Given the description of an element on the screen output the (x, y) to click on. 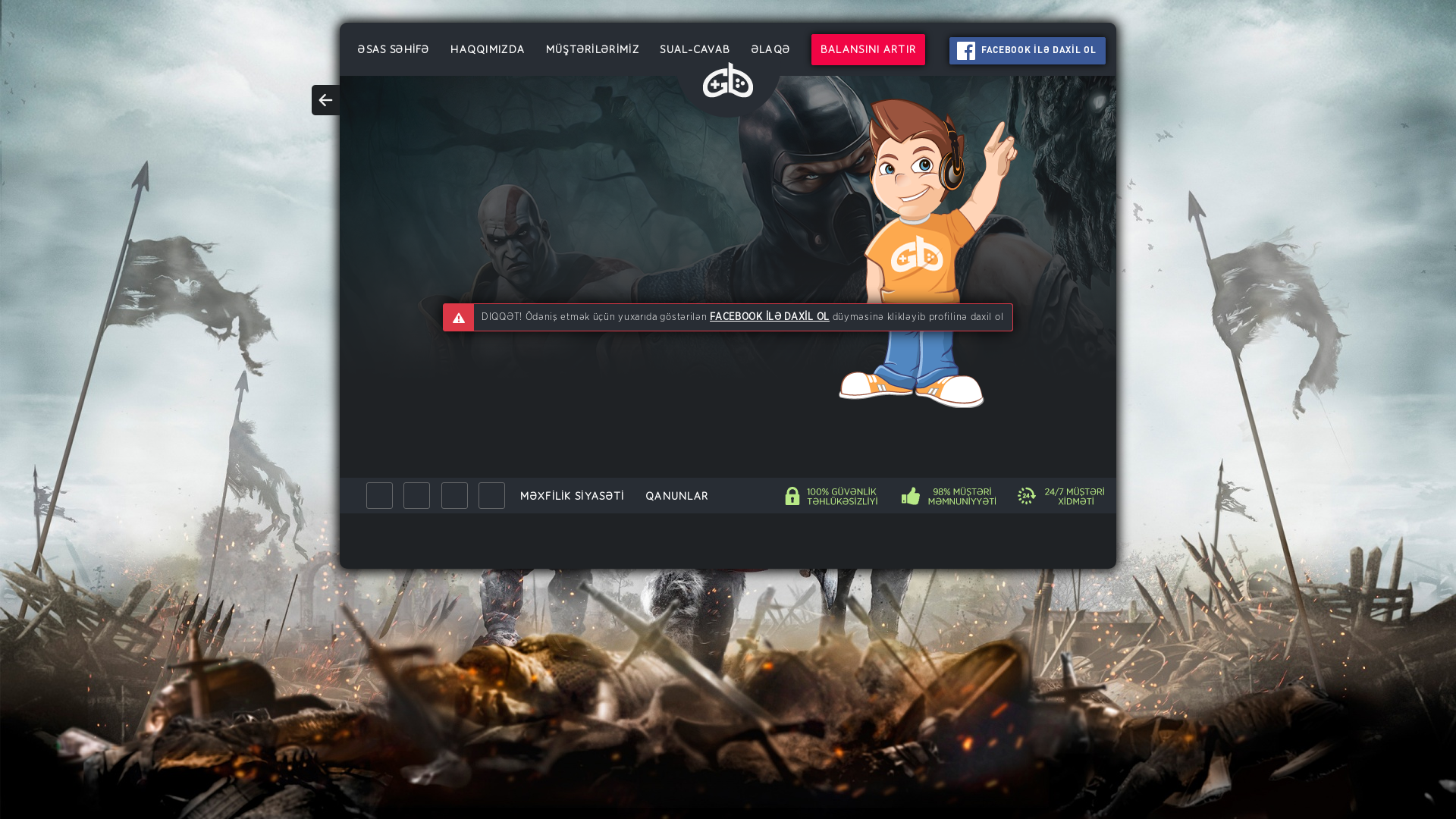
HAQQIMIZDA Element type: text (487, 49)
QANUNLAR Element type: text (676, 495)
SUAL-CAVAB Element type: text (694, 49)
BALANSINI ARTIR Element type: text (868, 49)
